Given the description of an element on the screen output the (x, y) to click on. 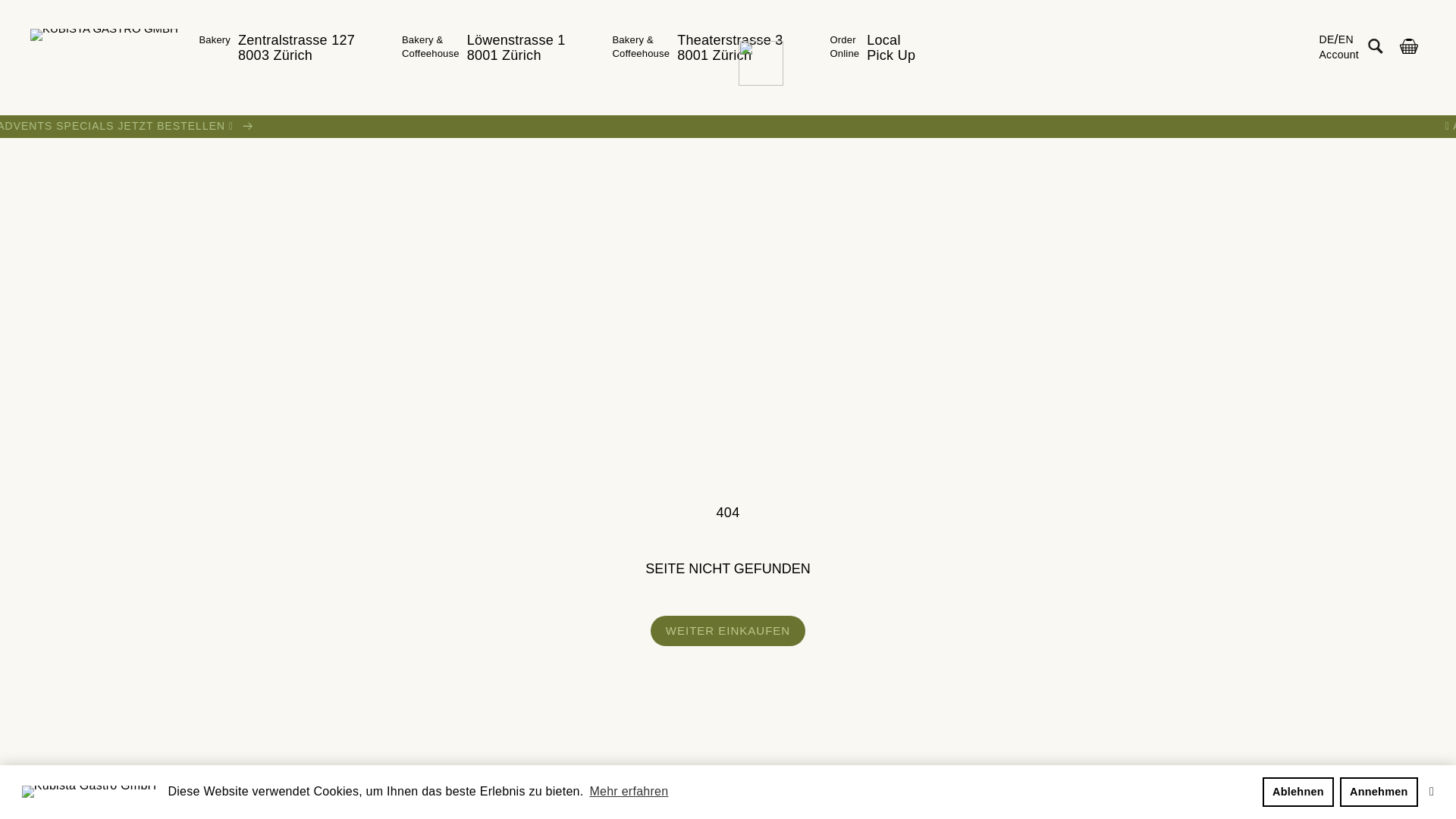
KONTAKT Element type: text (812, 788)
Mehr erfahren Element type: text (628, 791)
INSTAGRAM Element type: text (1118, 788)
LEGAL Element type: text (1401, 788)
Annehmen Element type: text (1378, 791)
Warenkorb Element type: text (1408, 45)
EN Element type: text (1345, 39)
NEWSLETTER Element type: text (962, 788)
Order
Online
Local
Pick Up Element type: text (873, 48)
GUTSCHEINE KAUFEN Element type: text (382, 788)
DE Element type: text (1326, 39)
JOBS Element type: text (685, 788)
Account
Einloggen Element type: text (1338, 54)
FACEBOOK Element type: text (1266, 788)
Ablehnen Element type: text (1298, 791)
WEITER EINKAUFEN Element type: text (727, 630)
